Given the description of an element on the screen output the (x, y) to click on. 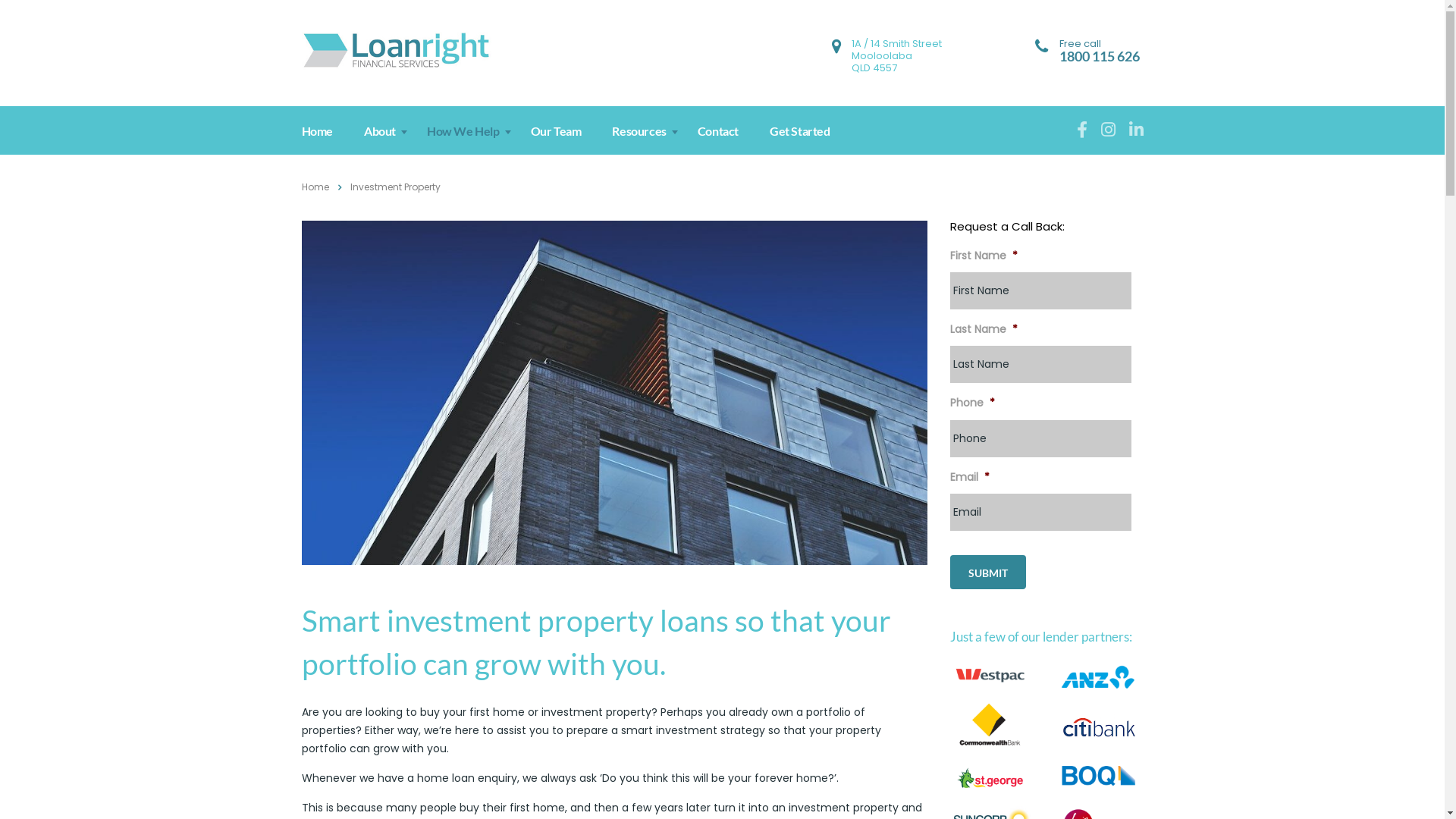
Our Team Element type: text (556, 130)
Free call
1800 115 626 Element type: text (1098, 49)
Home Element type: text (317, 130)
Contact Element type: text (718, 130)
Resources Element type: text (638, 130)
INVESTMENT Element type: hover (614, 392)
Submit Element type: text (987, 572)
Get Started Element type: text (800, 130)
How We Help Element type: text (463, 130)
Home Element type: text (315, 186)
About Element type: text (379, 130)
